Given the description of an element on the screen output the (x, y) to click on. 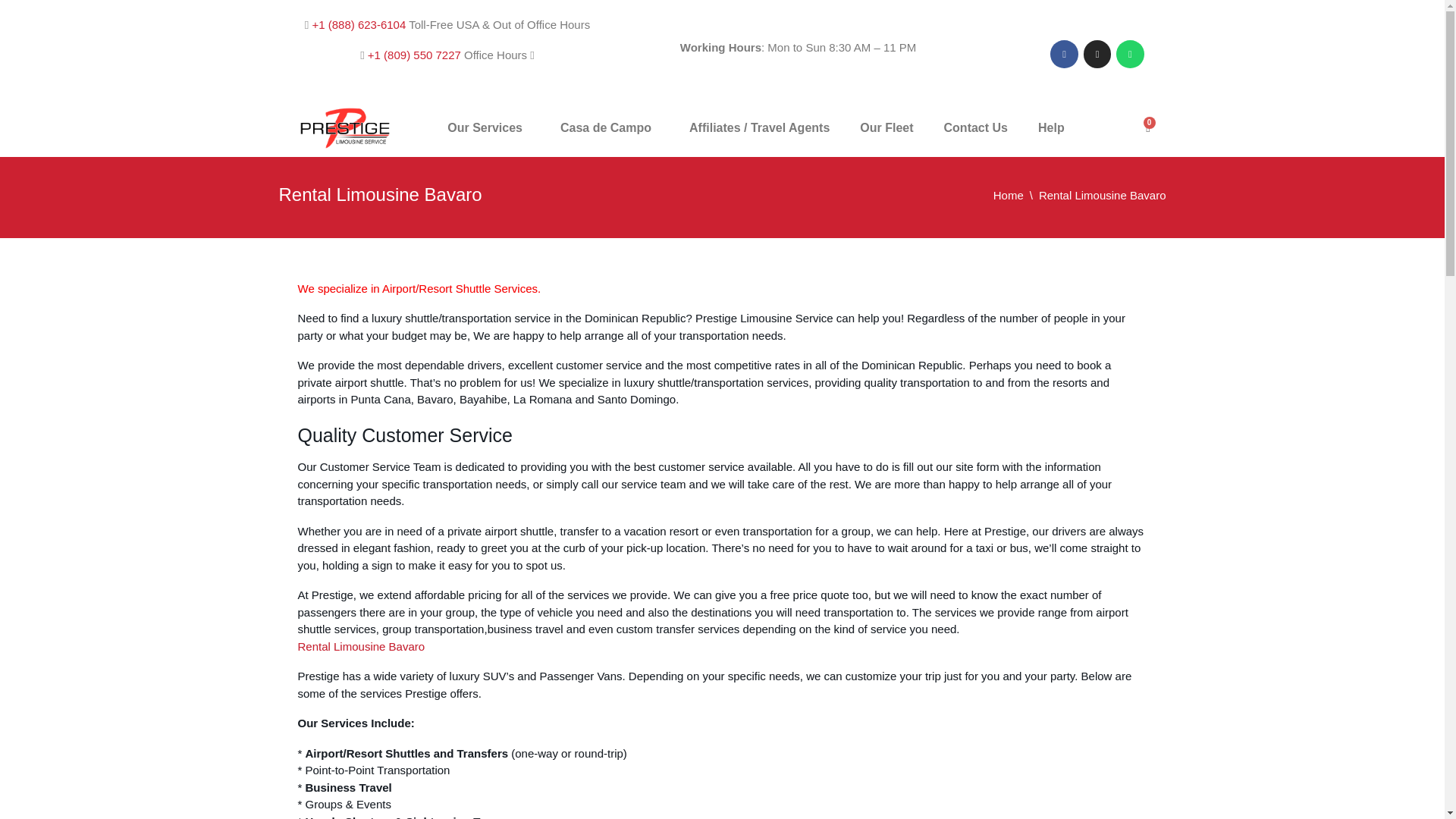
Help (1055, 127)
Casa de Campo (609, 127)
Our Services (488, 127)
Home (1015, 195)
Our Fleet (886, 127)
Rental Limousine Bavaro (361, 645)
Contact Us (975, 127)
